Given the description of an element on the screen output the (x, y) to click on. 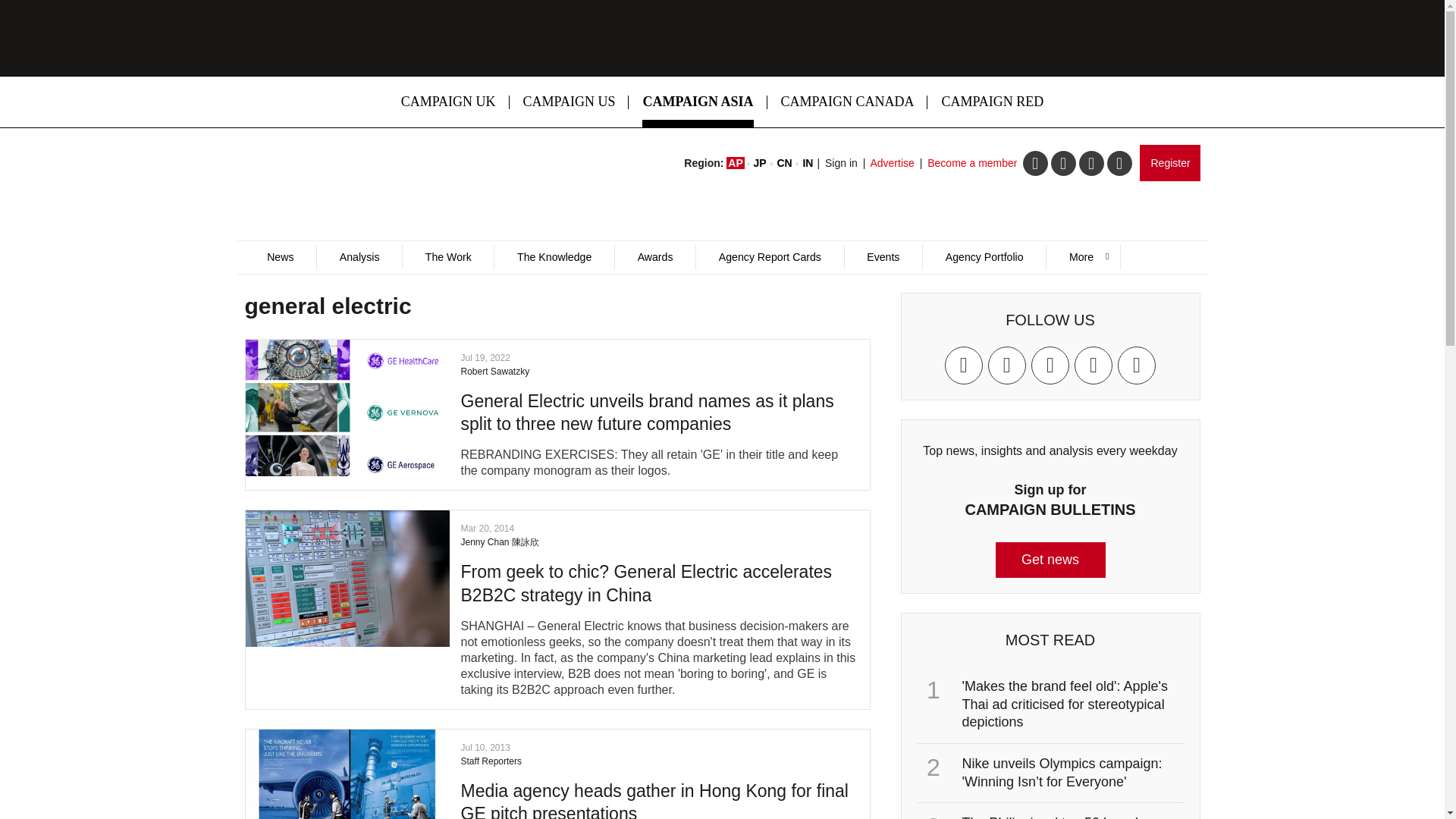
Search (952, 310)
CN (783, 162)
AP (735, 162)
Agency Report Cards (769, 257)
The Knowledge (553, 257)
The Knowledge (553, 257)
Analysis (358, 257)
Become a member (971, 162)
The Work (447, 257)
News (279, 257)
